Given the description of an element on the screen output the (x, y) to click on. 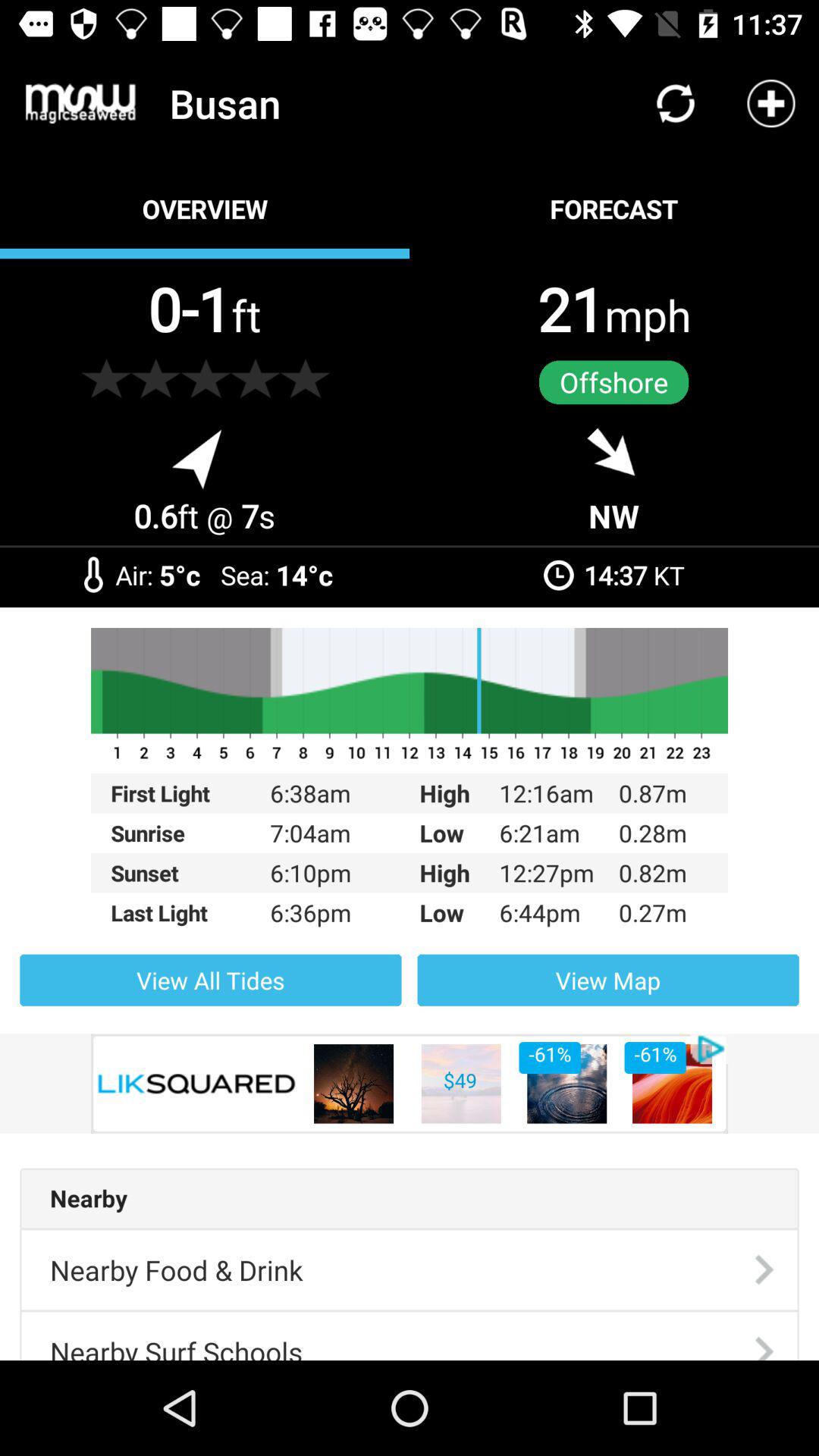
tap the item above the overview icon (80, 103)
